Given the description of an element on the screen output the (x, y) to click on. 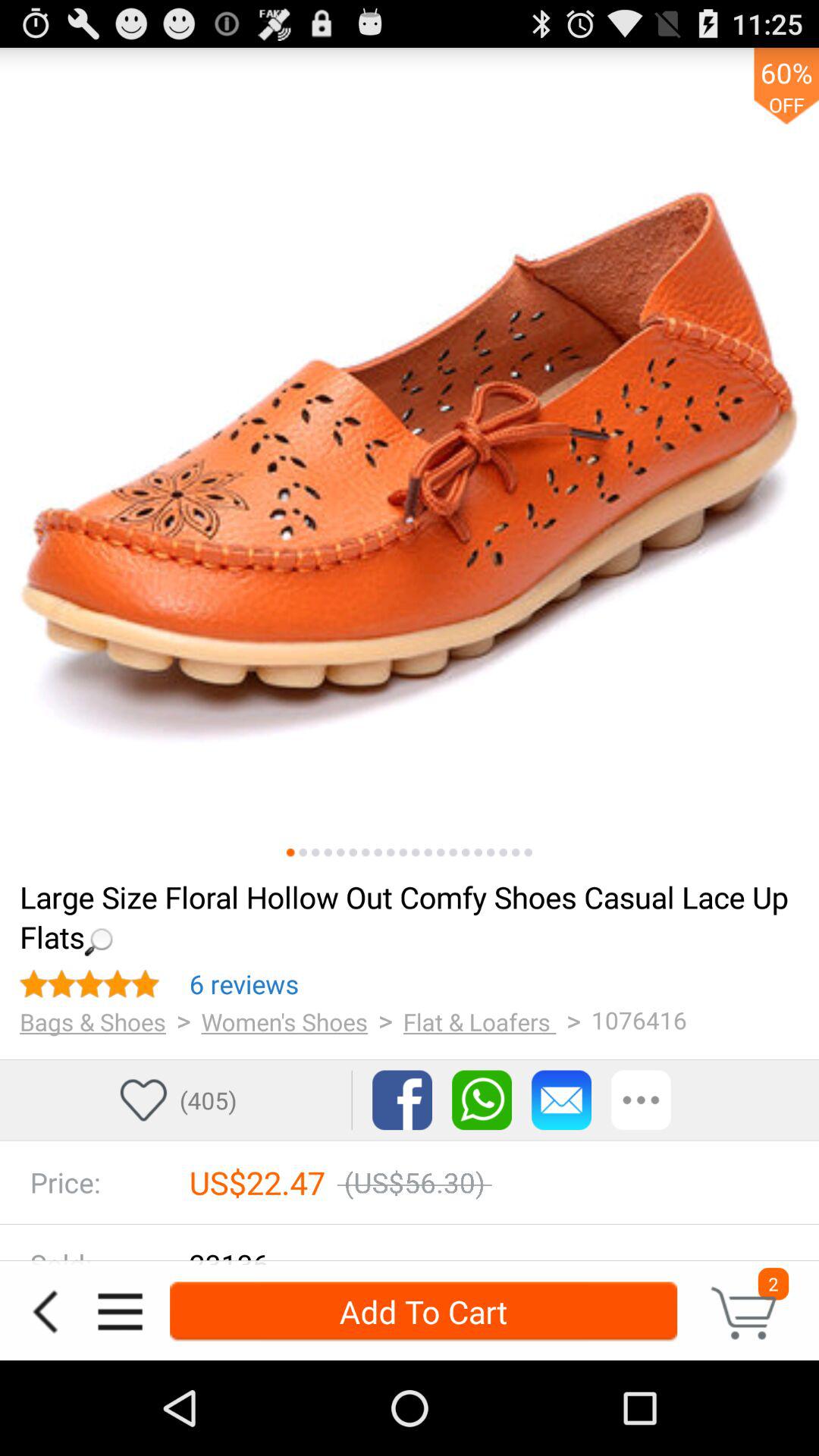
email the information about this product to an email address (561, 1100)
